Given the description of an element on the screen output the (x, y) to click on. 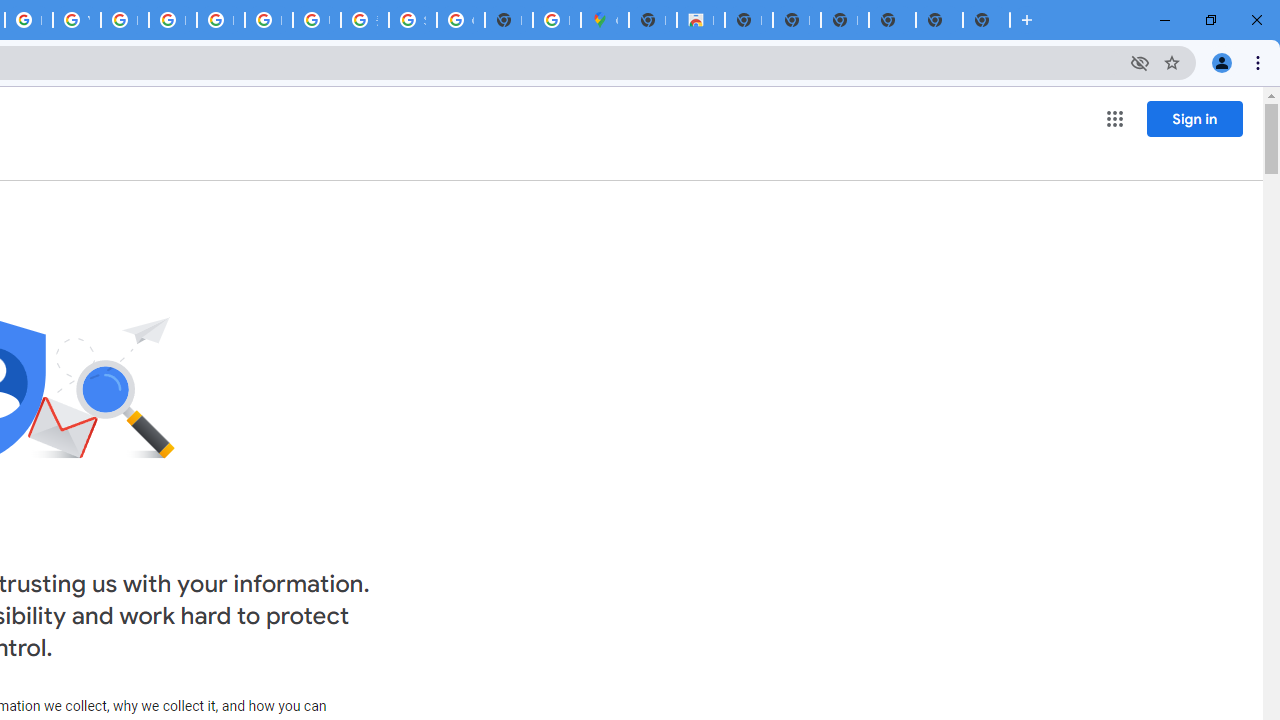
Sign in - Google Accounts (412, 20)
Google Maps (604, 20)
